Given the description of an element on the screen output the (x, y) to click on. 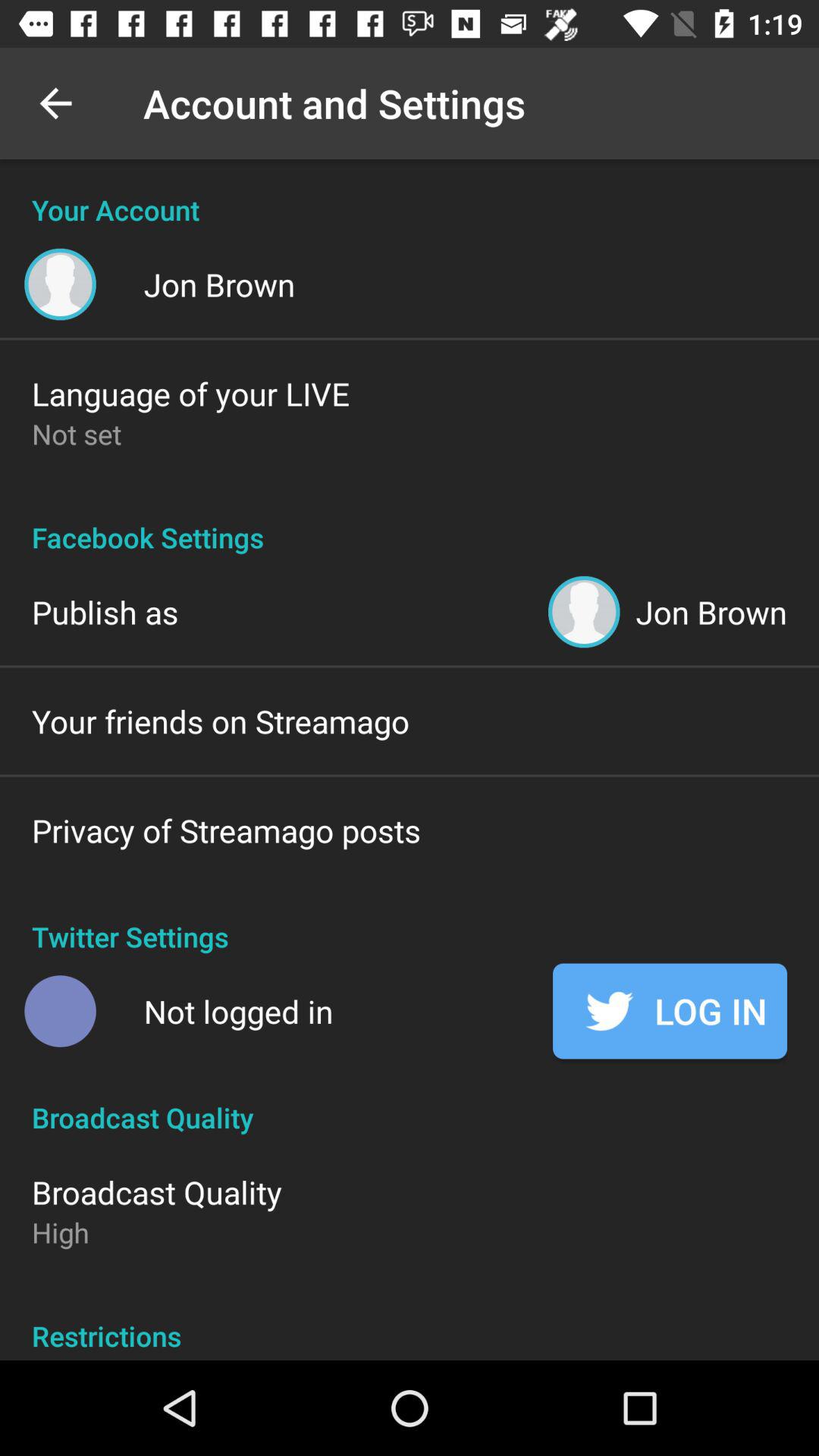
choose the facebook settings (409, 521)
